Given the description of an element on the screen output the (x, y) to click on. 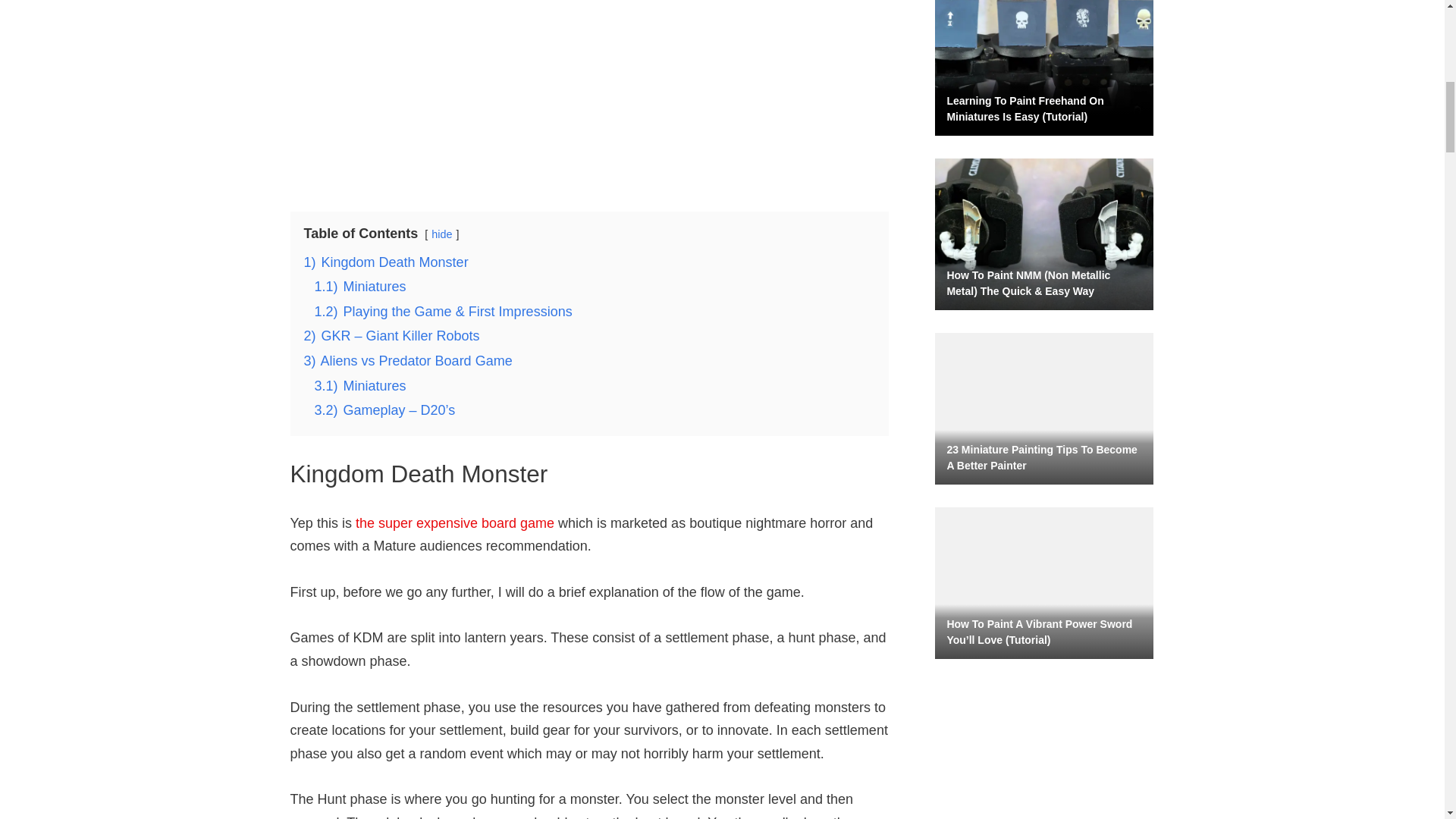
hide (440, 234)
the super expensive board game (454, 522)
Advertisement (588, 85)
